Given the description of an element on the screen output the (x, y) to click on. 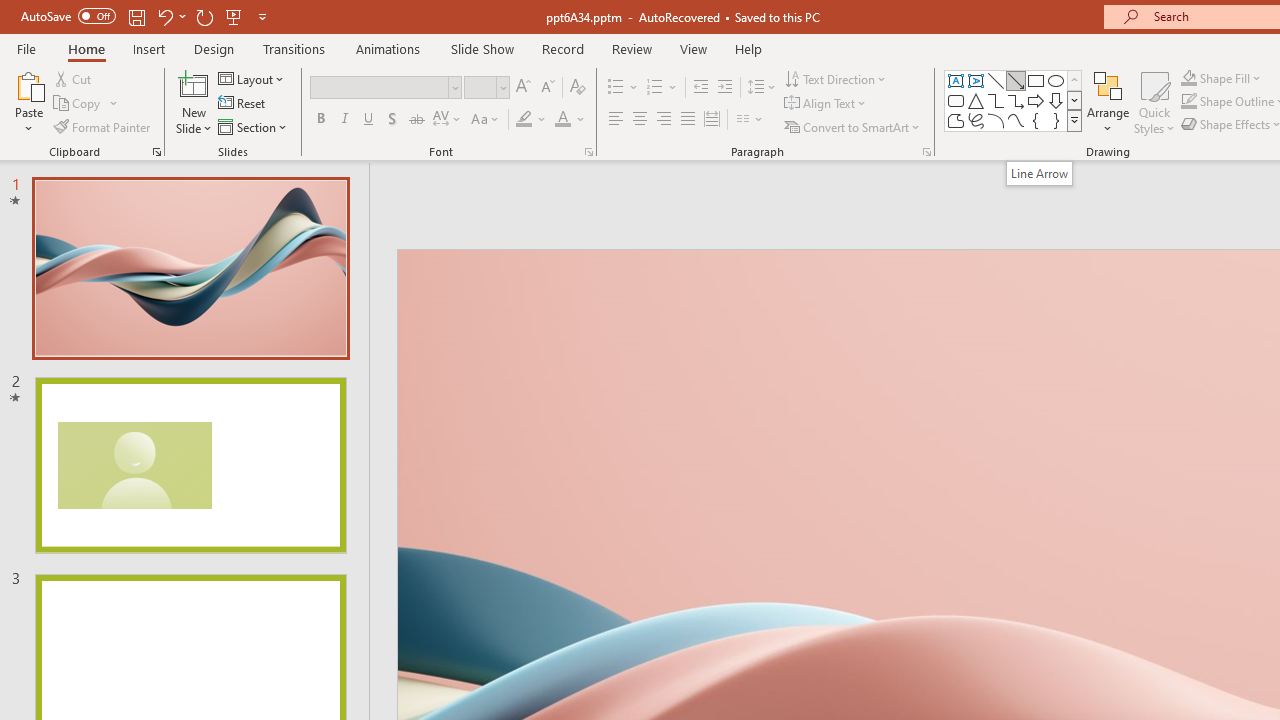
Quick Styles (1154, 102)
Text Highlight Color (531, 119)
Italic (344, 119)
Change Case (486, 119)
Line Spacing (762, 87)
Open (502, 87)
Row Down (1074, 100)
Font (379, 87)
Line Arrow (1039, 173)
Numbering (661, 87)
Increase Font Size (522, 87)
Connector: Elbow (995, 100)
Font Size (480, 87)
